Given the description of an element on the screen output the (x, y) to click on. 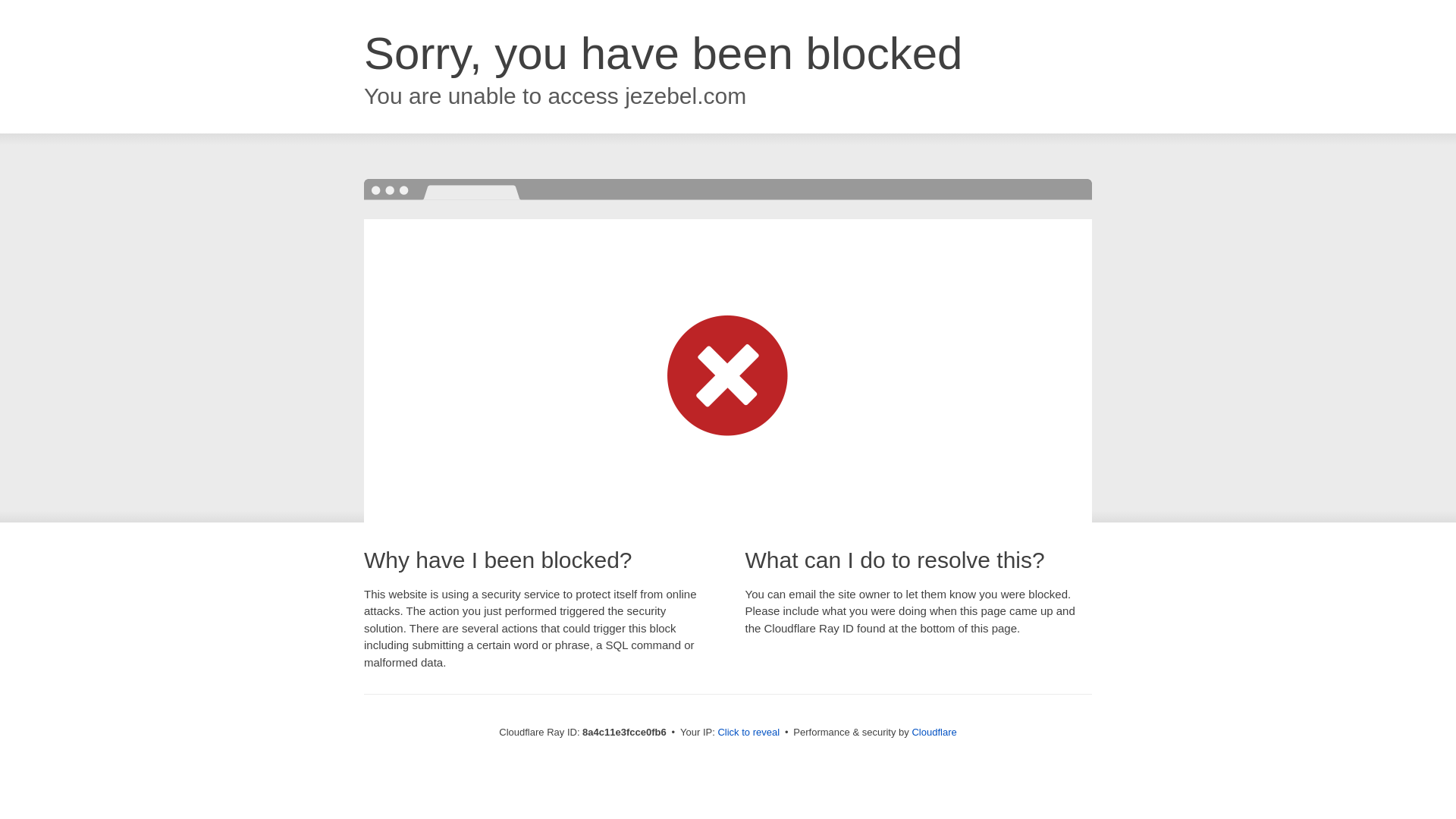
Click to reveal (747, 732)
Cloudflare (933, 731)
